Given the description of an element on the screen output the (x, y) to click on. 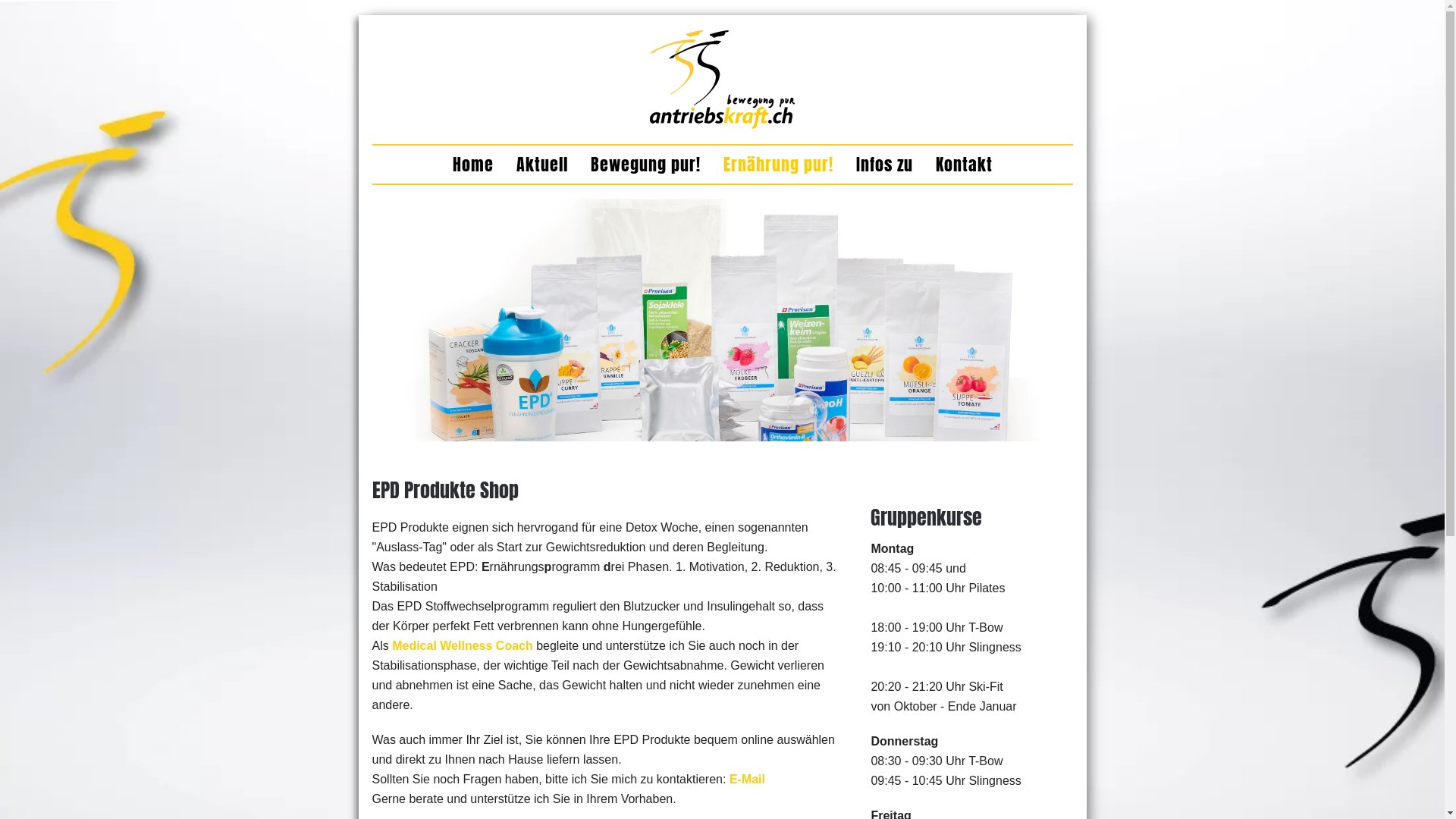
Medical Wellness Coach Element type: text (462, 645)
Bewegung pur! Element type: text (644, 164)
Infos zu Element type: text (883, 164)
Home Element type: text (471, 164)
Aktuell Element type: text (541, 164)
Kontakt Element type: text (963, 164)
E-Mail Element type: text (747, 778)
